Given the description of an element on the screen output the (x, y) to click on. 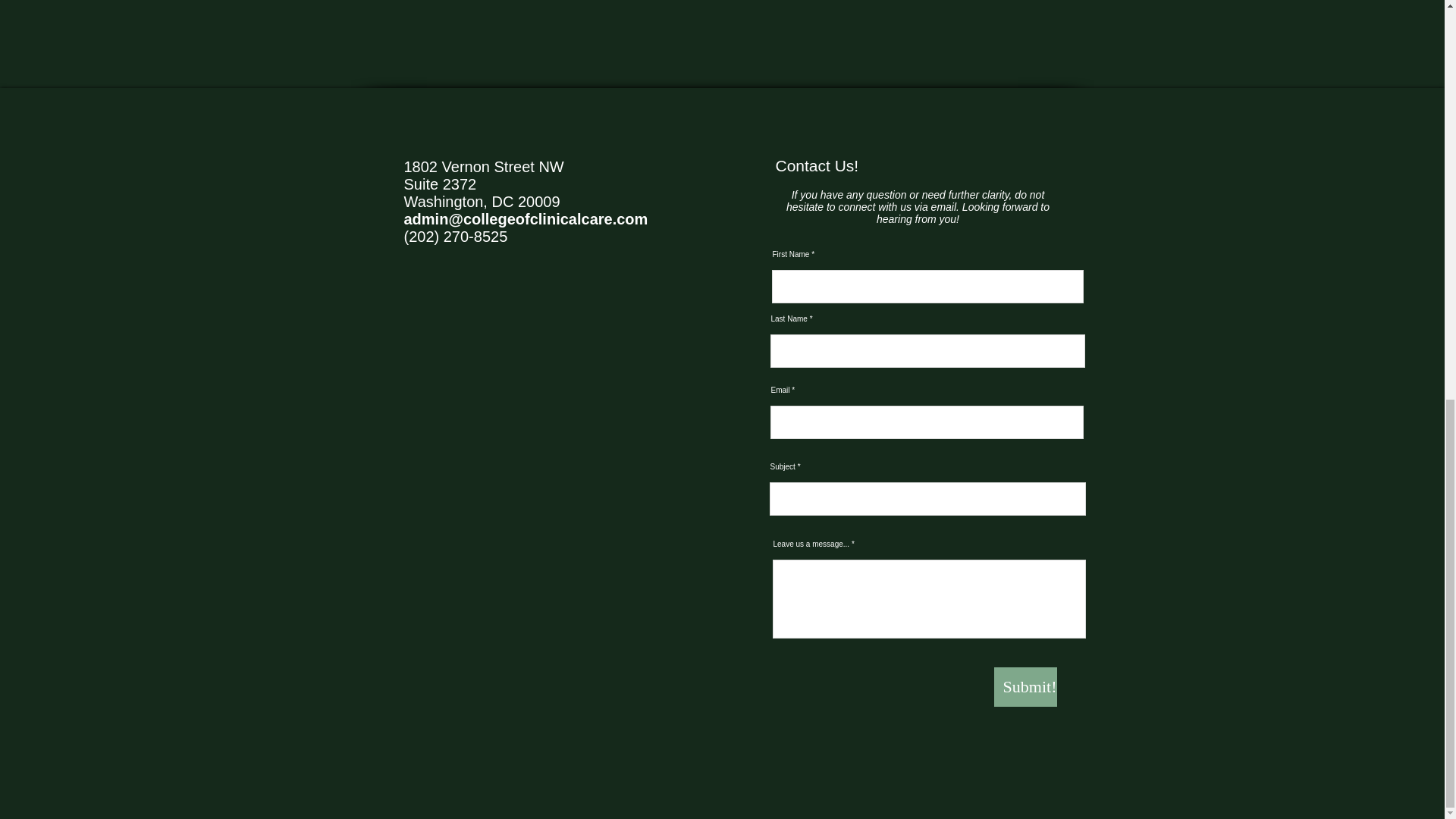
Submit! (1024, 686)
